Given the description of an element on the screen output the (x, y) to click on. 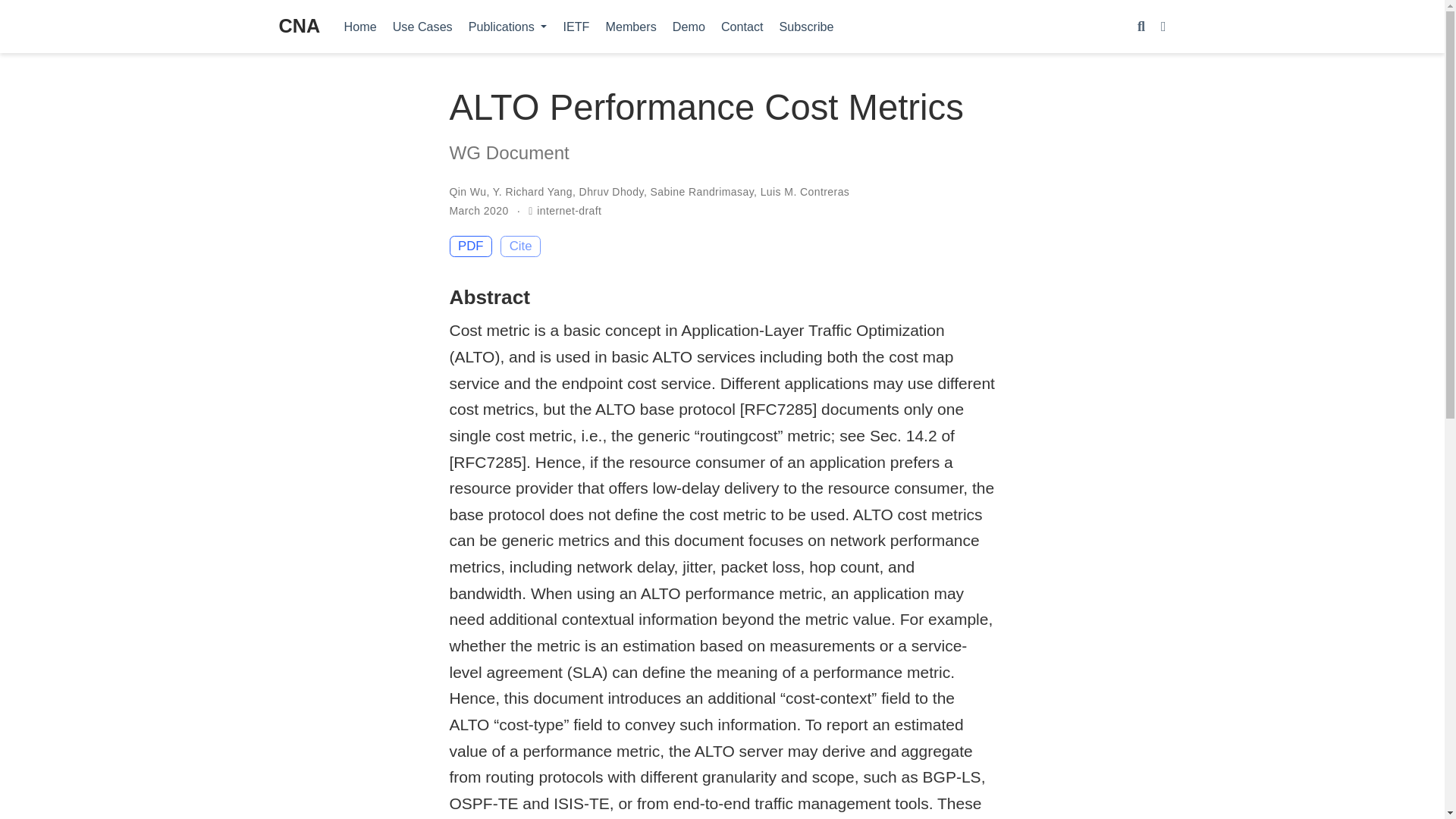
internet-draft (569, 210)
Dhruv Dhody (611, 191)
Qin Wu (467, 191)
Publications (507, 25)
Use Cases (422, 25)
Contact (742, 25)
PDF (470, 246)
Members (629, 25)
IETF (575, 25)
Sabine Randrimasay (702, 191)
Luis M. Contreras (805, 191)
Home (360, 25)
Demo (688, 25)
Subscribe (806, 25)
Cite (520, 246)
